Given the description of an element on the screen output the (x, y) to click on. 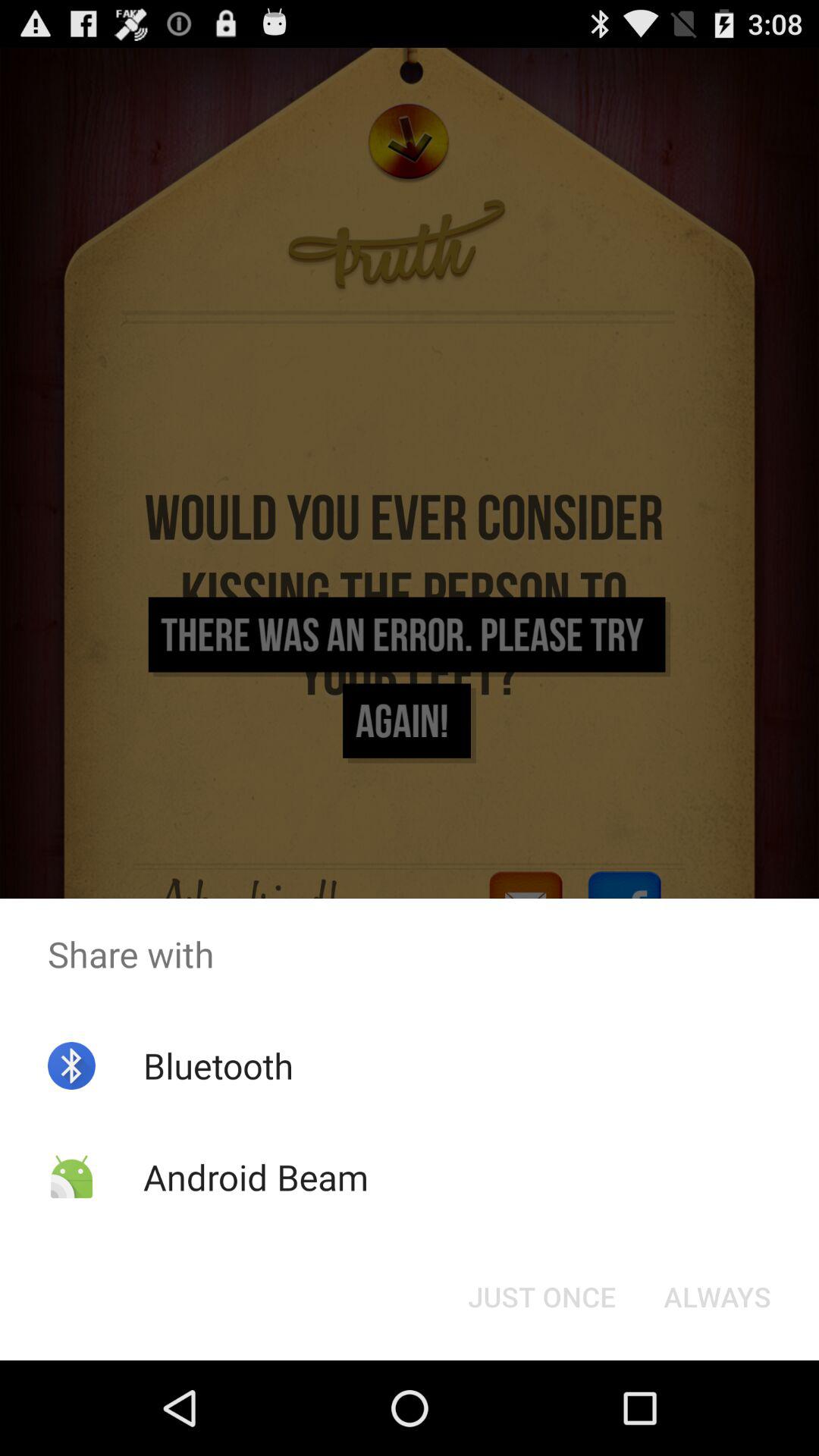
choose the app below the bluetooth icon (255, 1176)
